Given the description of an element on the screen output the (x, y) to click on. 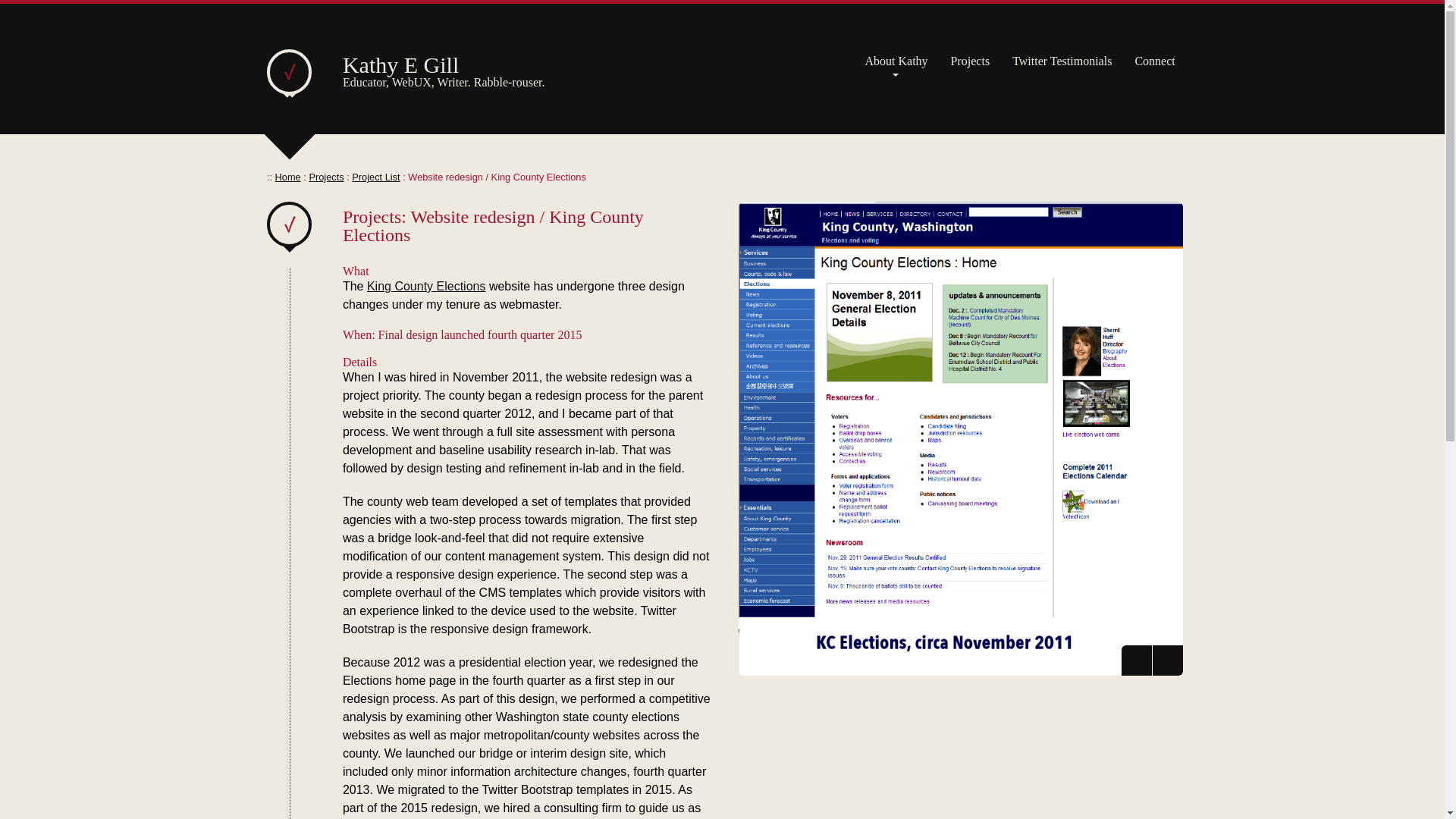
Go to King County Elections (426, 286)
Projects (325, 176)
Kathy E Gill (400, 64)
Connect with Kathy on social or send her a webmail note (1154, 61)
Learn more about Kathy E Gill (895, 61)
Next (1167, 660)
About Kathy (895, 61)
King County Elections (426, 286)
Connect (1154, 61)
Twitter Testimonials (1061, 61)
